Given the description of an element on the screen output the (x, y) to click on. 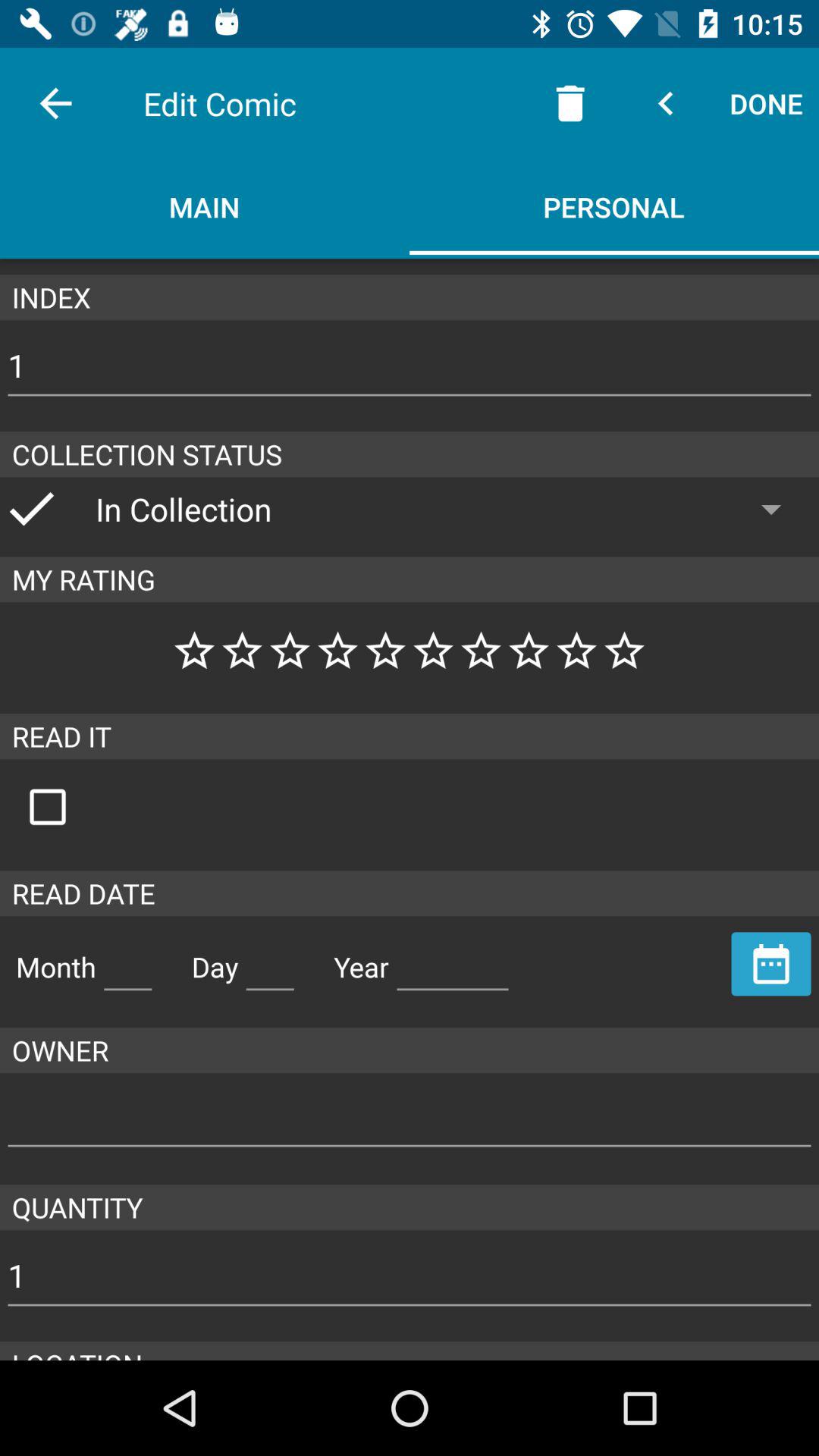
read the comic selected (63, 806)
